Given the description of an element on the screen output the (x, y) to click on. 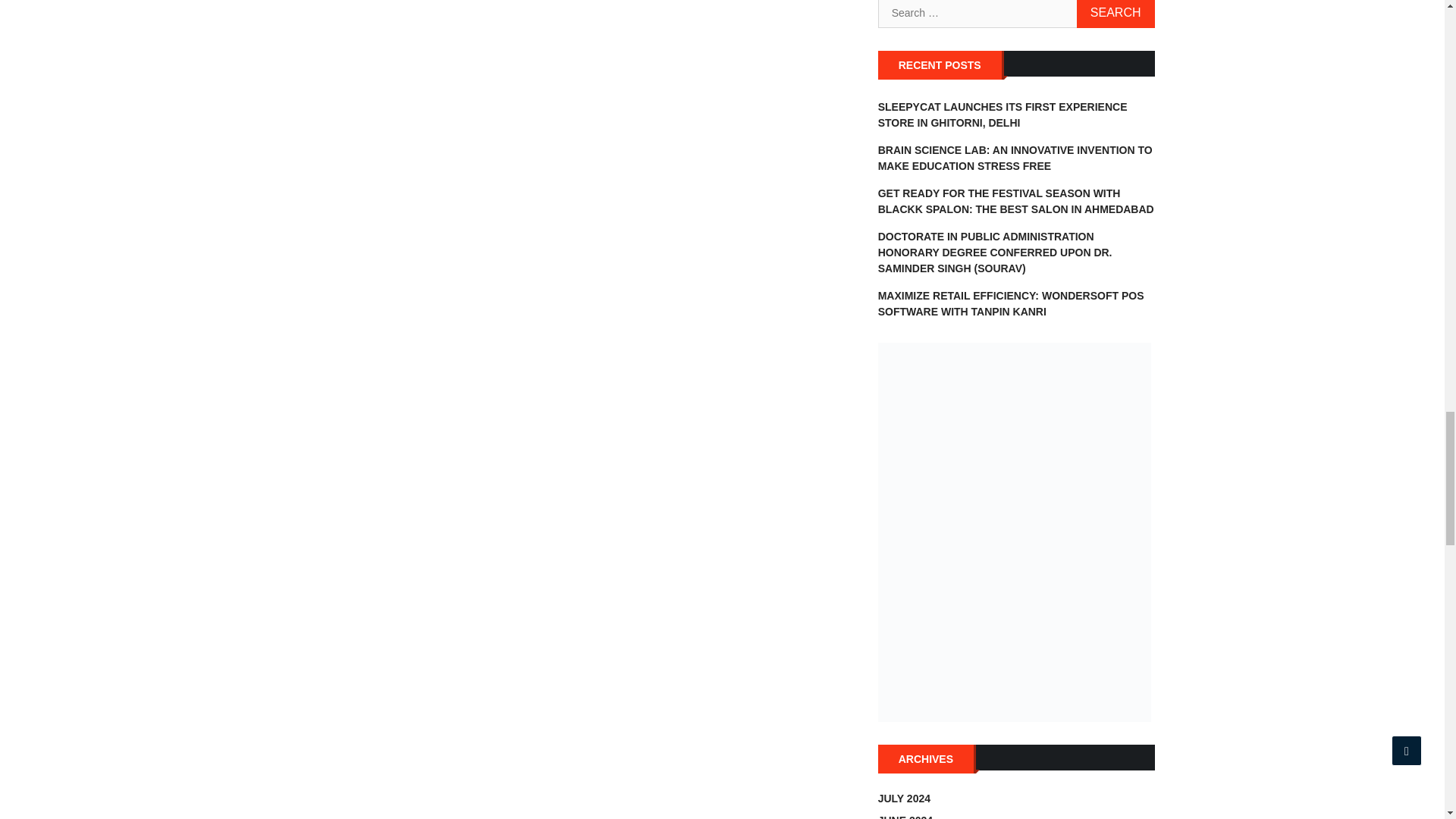
Search (1115, 13)
Search (1115, 13)
